Given the description of an element on the screen output the (x, y) to click on. 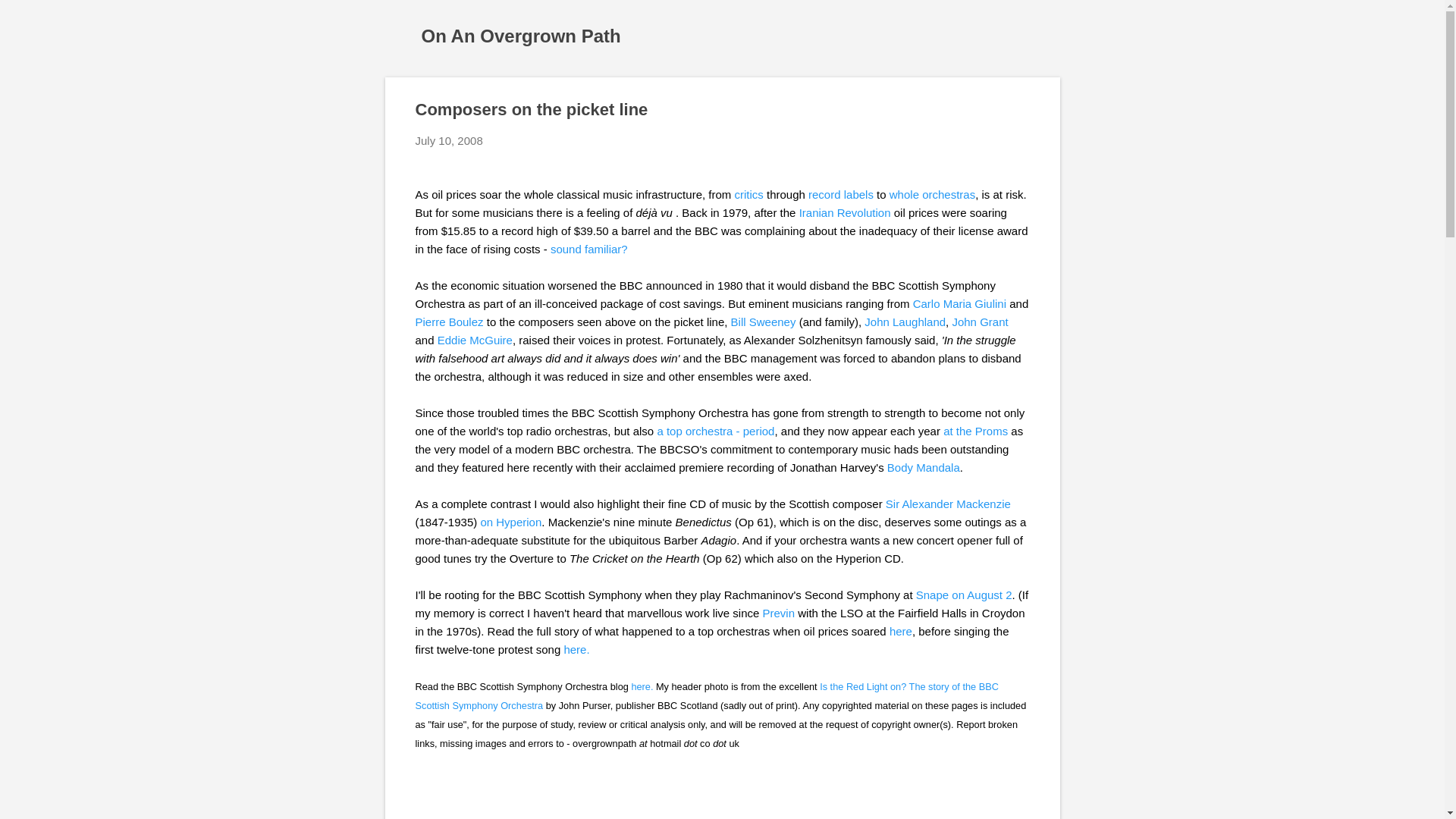
John Laughland (904, 321)
Bill Sweeney (763, 321)
a top orchestra - period (715, 431)
permanent link (448, 140)
here (900, 631)
here. (576, 649)
John Grant (979, 321)
whole orchestras (932, 194)
Sir Alexander Mackenzie (947, 503)
Snape on August 2 (963, 594)
Pierre Boulez (448, 321)
Carlo Maria Giulini (959, 303)
here. (641, 686)
record labels (840, 194)
